Given the description of an element on the screen output the (x, y) to click on. 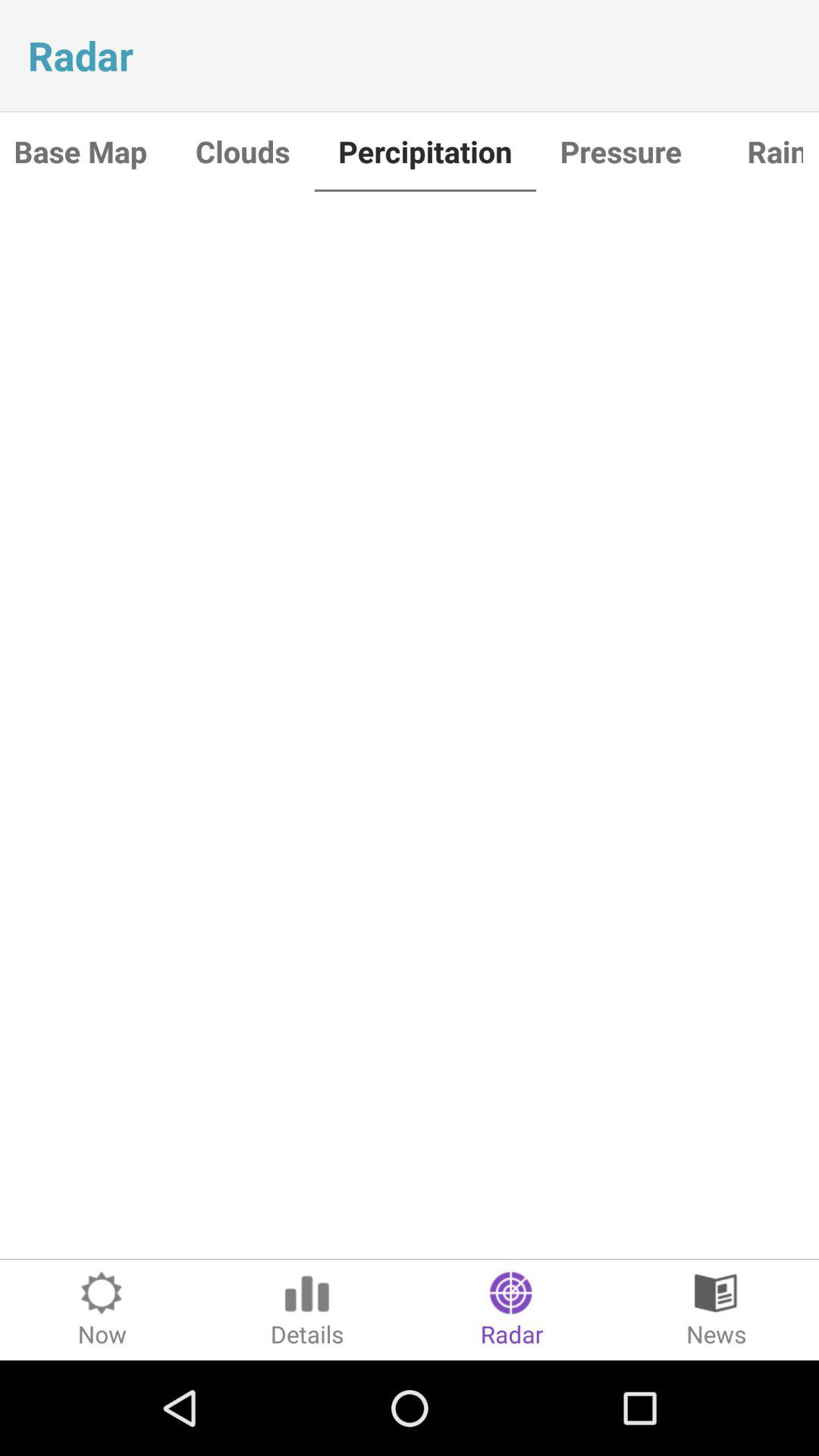
turn on the now at the bottom left corner (102, 1310)
